Given the description of an element on the screen output the (x, y) to click on. 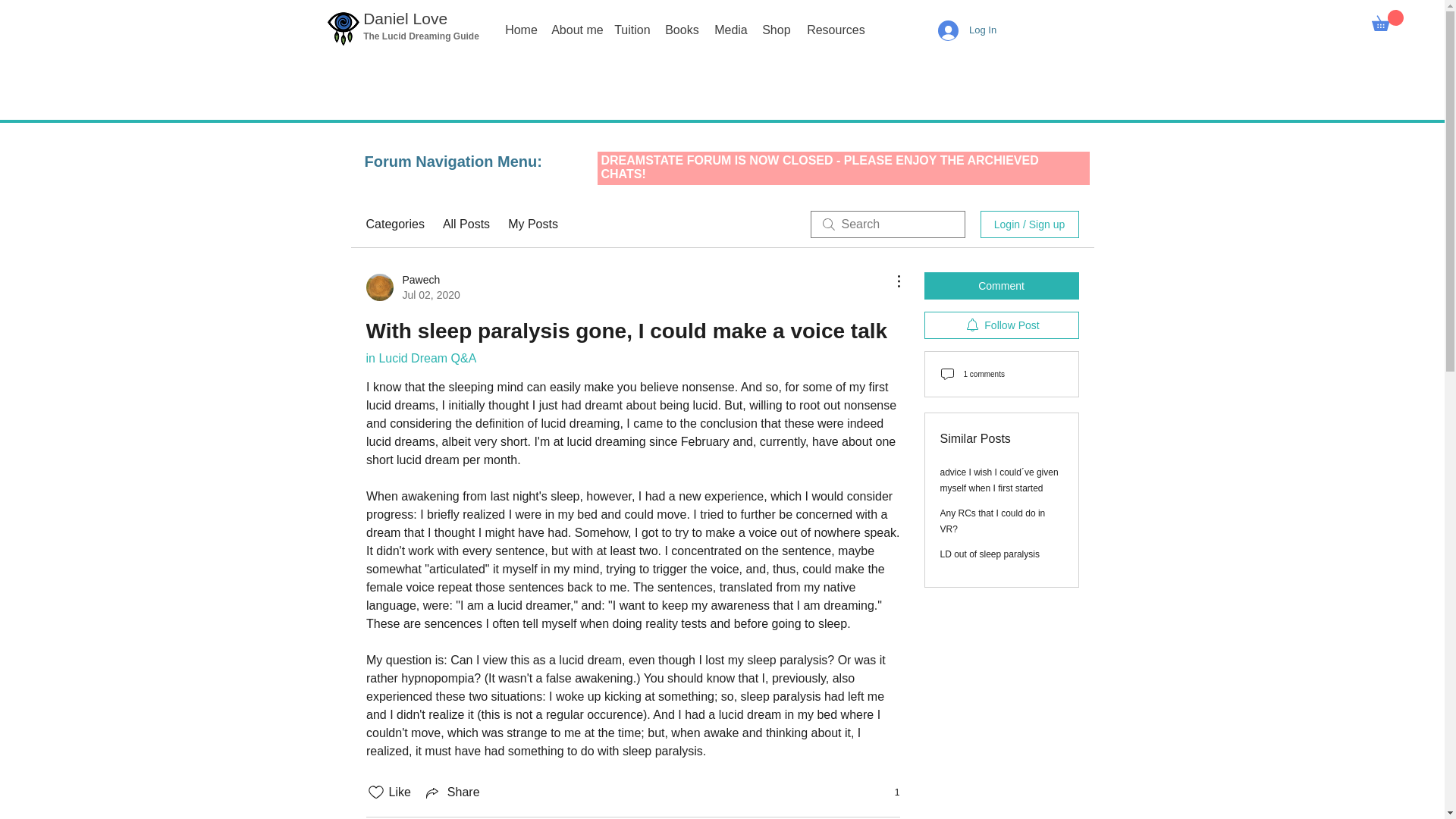
Follow Post (1000, 325)
Shop (772, 30)
Comment (1000, 285)
Tuition (627, 30)
Categories (394, 224)
Home (516, 30)
Share (451, 791)
1 (888, 792)
About me (412, 286)
Log In (571, 30)
The Lucid Dreaming Guide (967, 30)
All Posts (420, 36)
Books (465, 224)
Resources (678, 30)
